Given the description of an element on the screen output the (x, y) to click on. 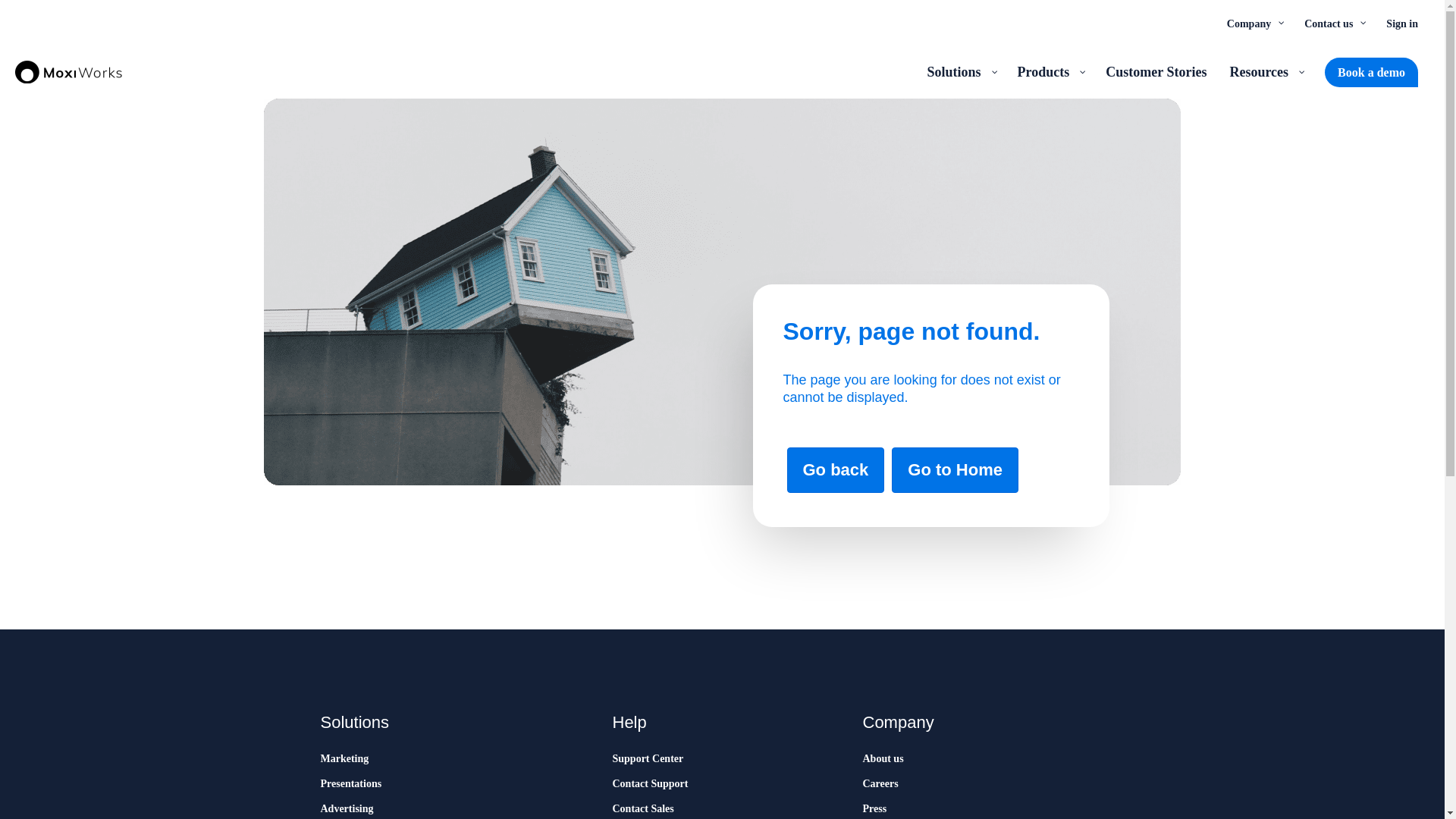
Company (1253, 22)
Products (1050, 72)
Sign in (1401, 22)
Solutions (960, 72)
Contact us (1333, 22)
